Given the description of an element on the screen output the (x, y) to click on. 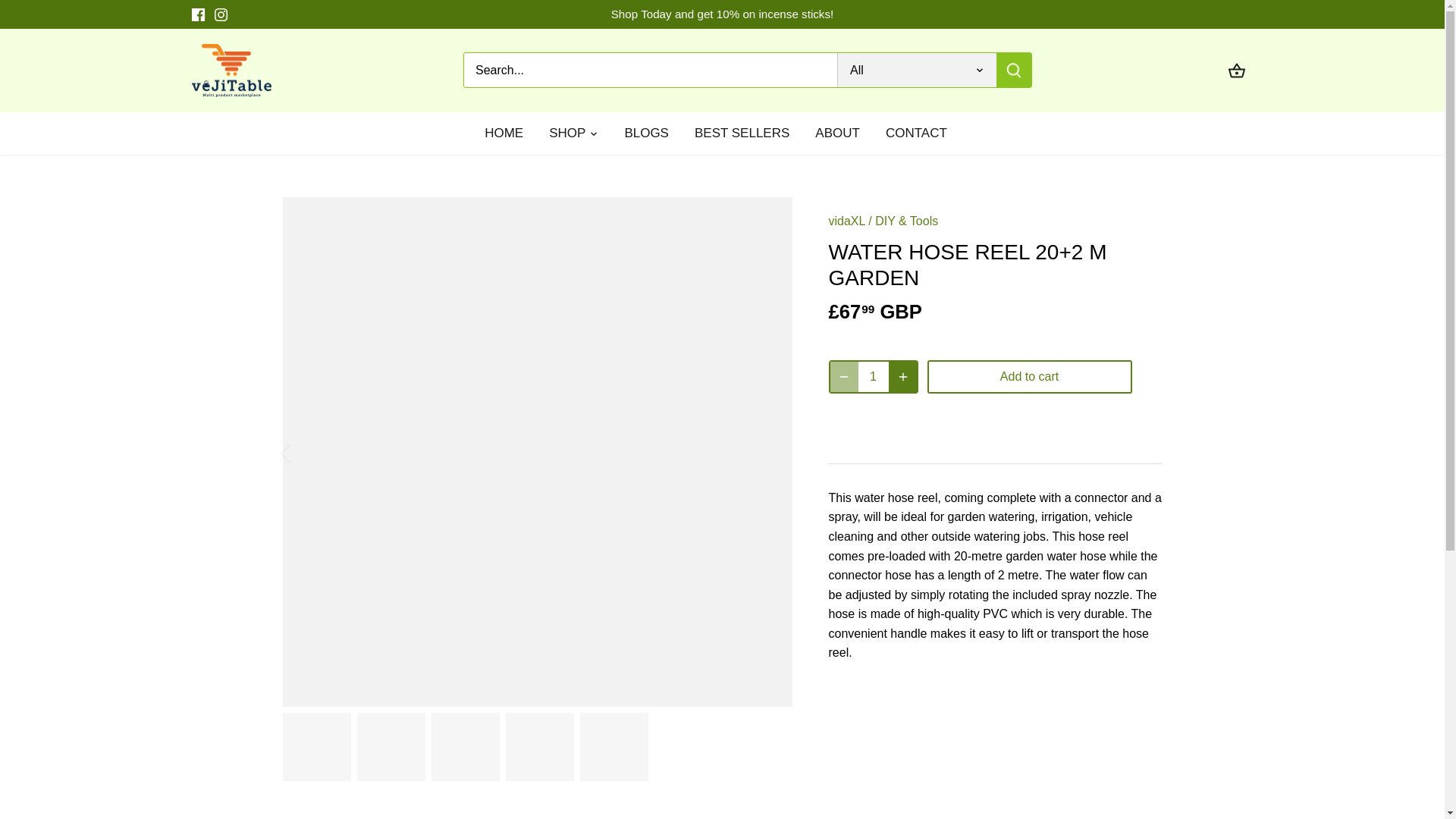
SHOP (566, 133)
BLOGS (646, 133)
Facebook (196, 14)
ABOUT (837, 133)
BEST SELLERS (741, 133)
HOME (509, 133)
Instagram (220, 14)
Facebook (196, 13)
Instagram (220, 13)
Go to cart (1235, 69)
1 (873, 377)
CONTACT (915, 133)
